Given the description of an element on the screen output the (x, y) to click on. 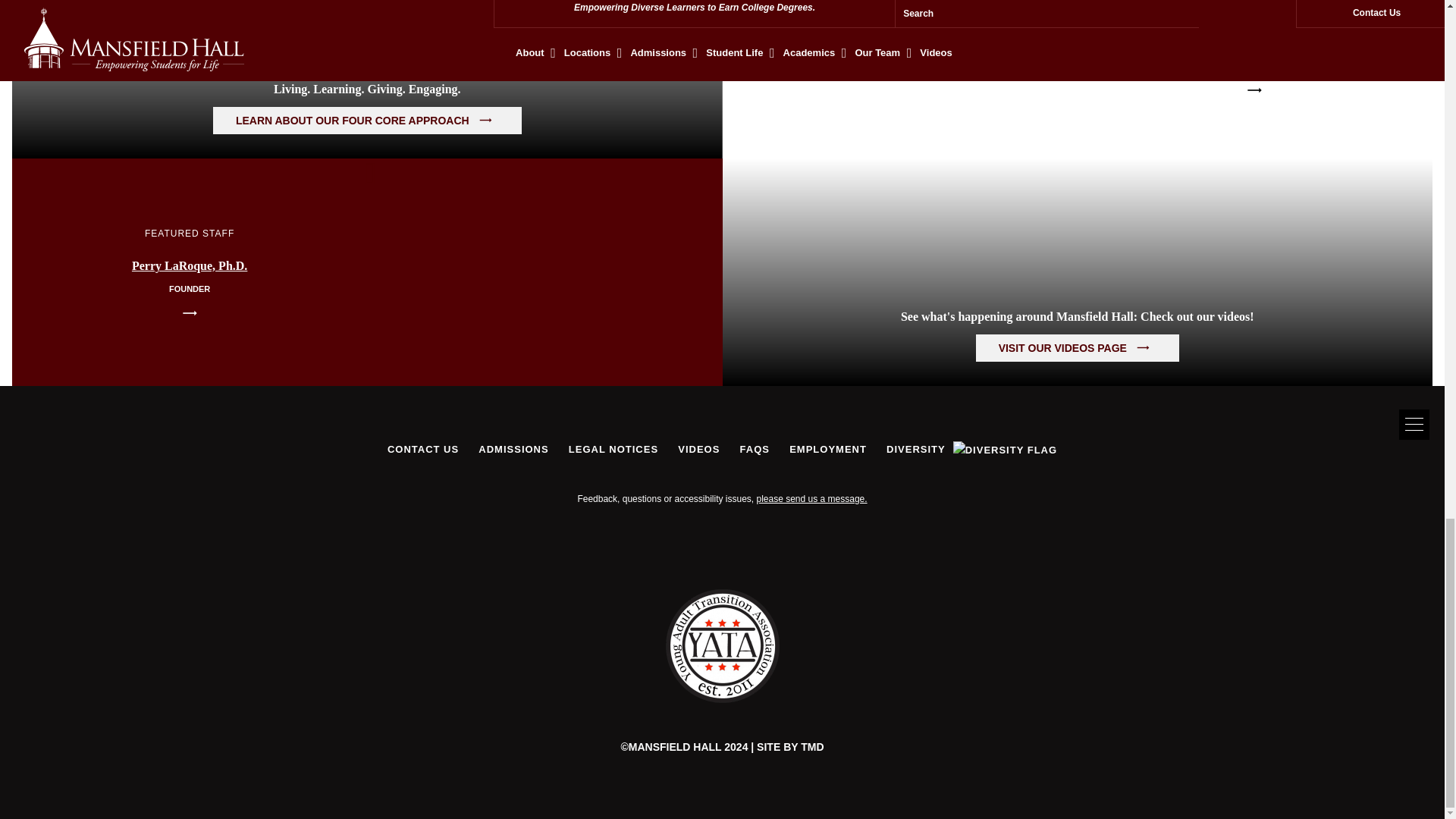
YATA Conference (721, 698)
